Given the description of an element on the screen output the (x, y) to click on. 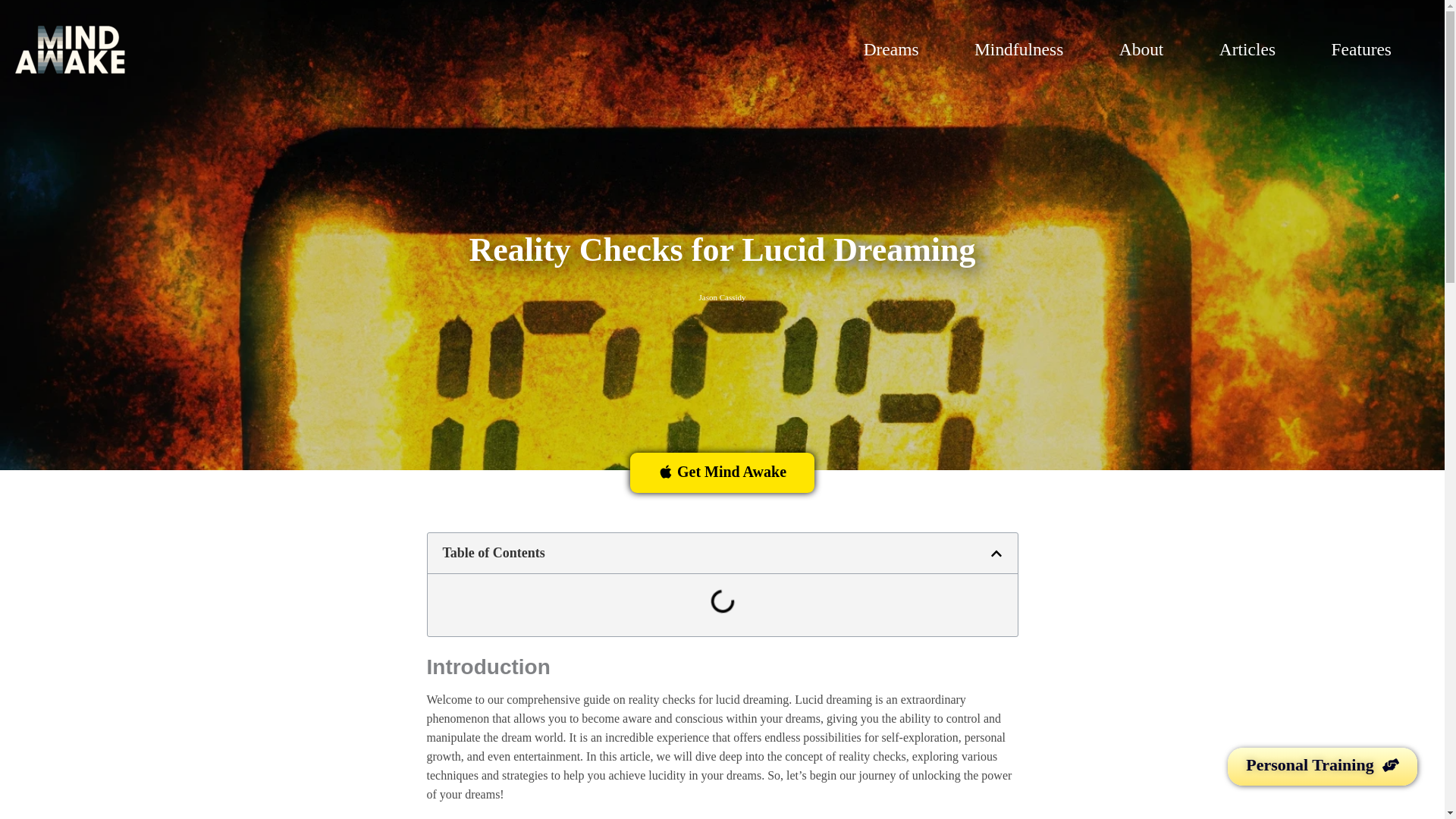
Jason Cassidy (721, 296)
Get Mind Awake (721, 472)
About (1150, 49)
Dreams (900, 49)
Features (1371, 49)
Articles (1257, 49)
Mindfulness (1029, 49)
Personal Training (1321, 766)
